Given the description of an element on the screen output the (x, y) to click on. 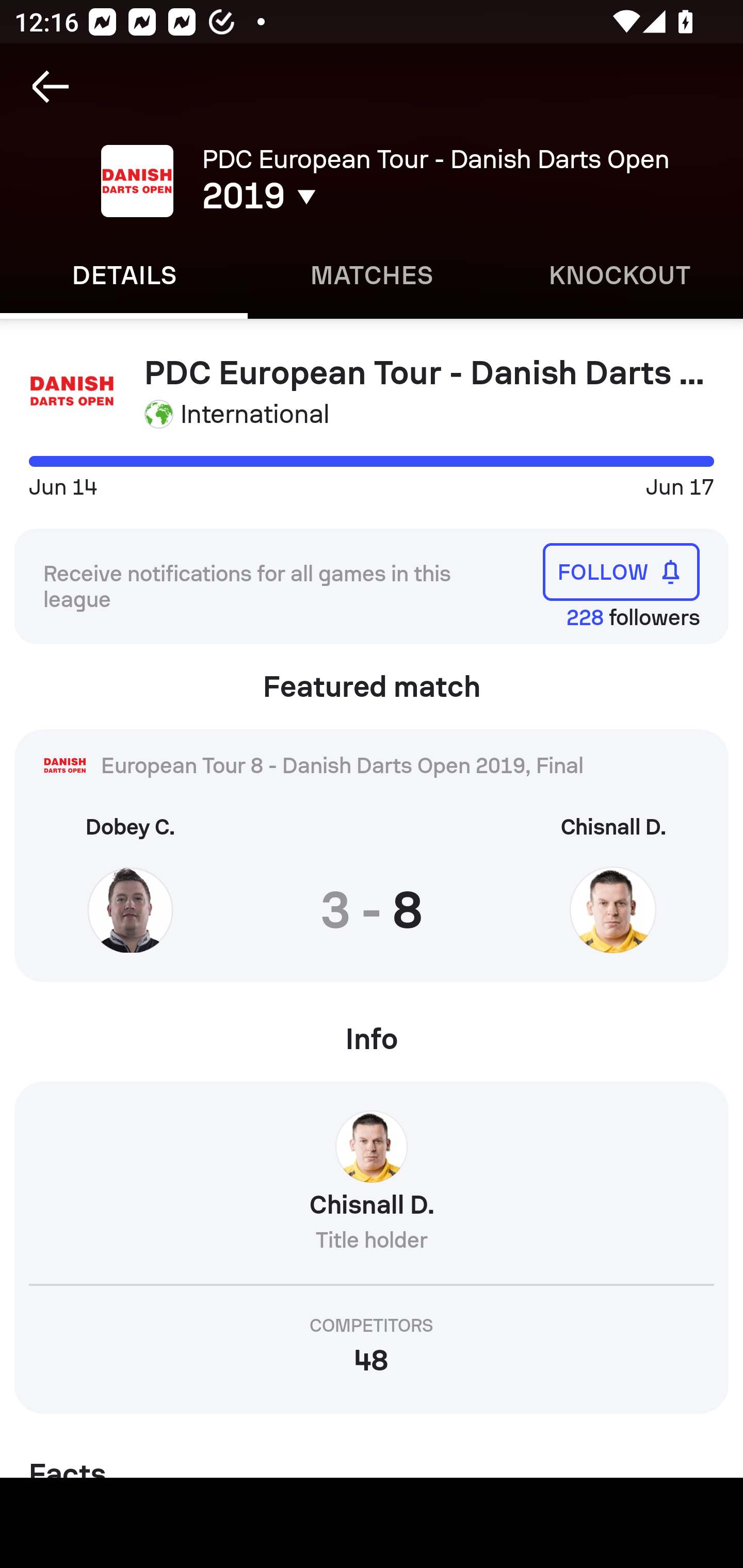
Navigate up (50, 86)
2019 (350, 195)
Matches MATCHES (371, 275)
Knockout KNOCKOUT (619, 275)
FOLLOW (621, 571)
Chisnall D. Title holder (371, 1190)
